Given the description of an element on the screen output the (x, y) to click on. 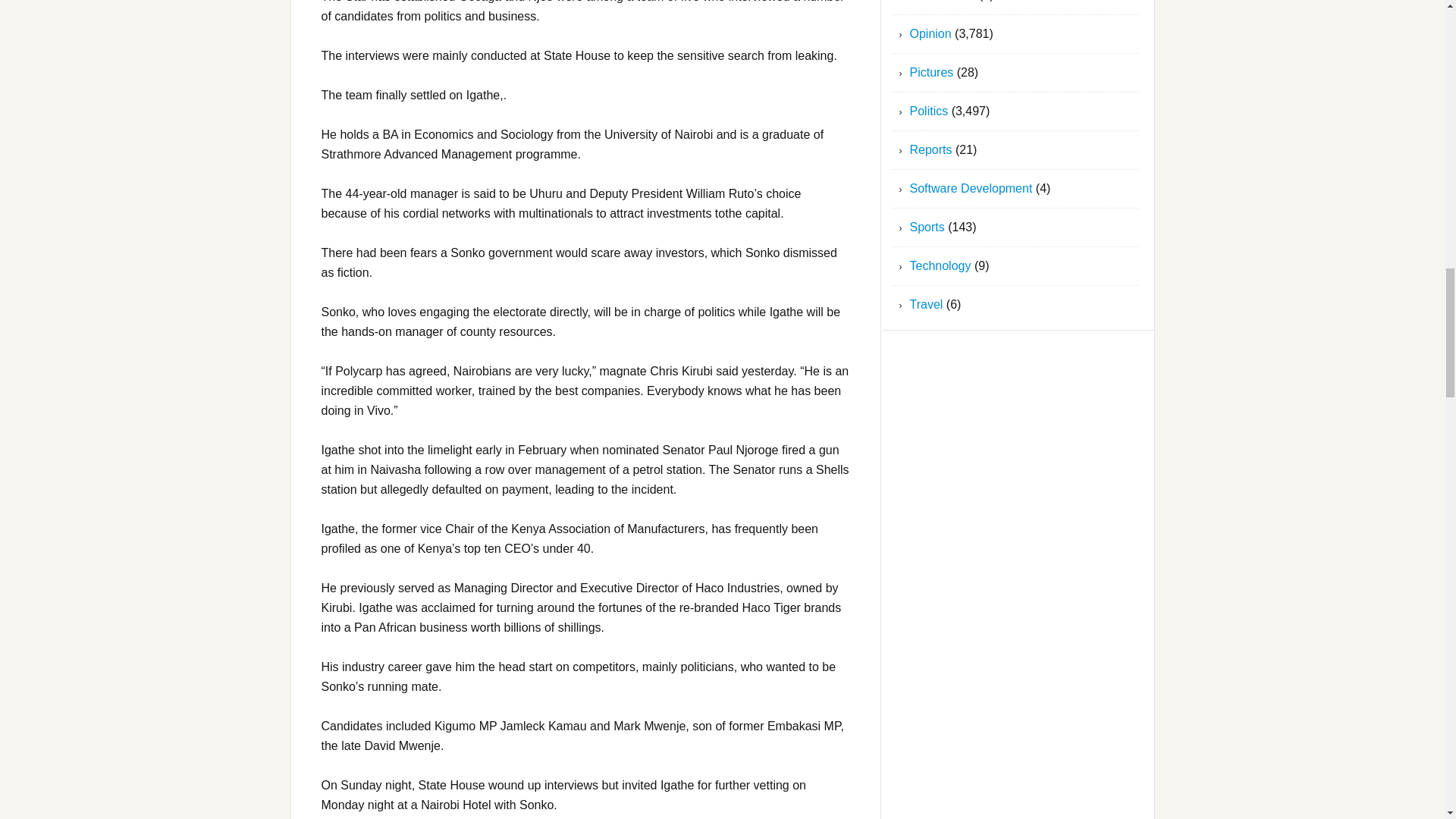
Jackal news (942, 0)
Pictures (931, 72)
Opinion (931, 33)
